Given the description of an element on the screen output the (x, y) to click on. 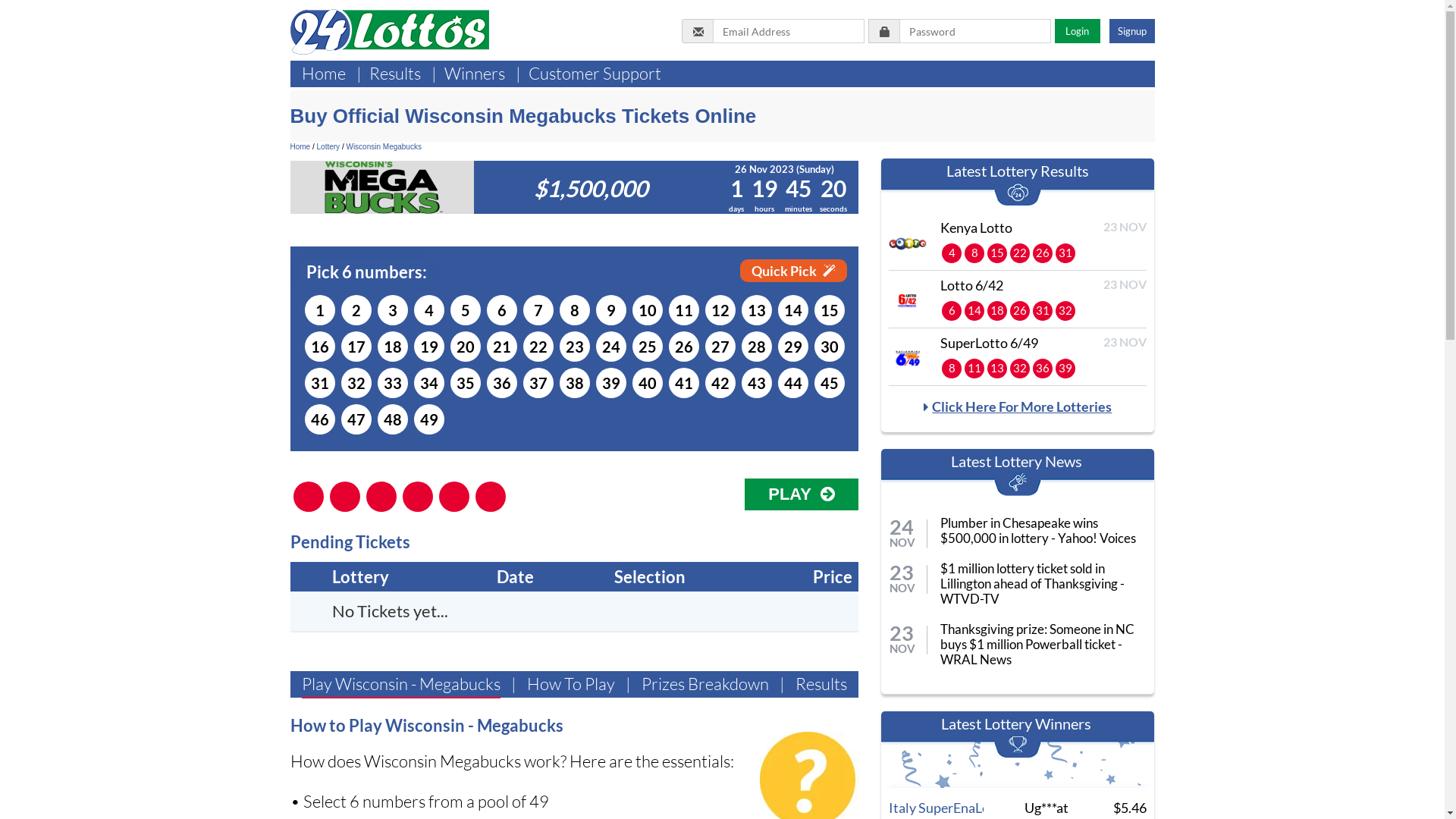
Prizes Breakdown Element type: text (704, 684)
Customer Support Element type: text (593, 74)
Italy SuperEnaLotto Element type: text (947, 807)
Click Here For More Lotteries Element type: text (1017, 406)
Quick Pick Element type: text (793, 270)
Wisconsin Megabucks Element type: text (382, 146)
Home Element type: text (299, 146)
Results Element type: text (394, 74)
How To Play Element type: text (570, 684)
Home Element type: text (323, 74)
Lottery Element type: text (328, 146)
Results Element type: text (820, 684)
PLAY   Element type: text (801, 494)
Play Wisconsin - Megabucks Element type: text (400, 685)
Winners Element type: text (474, 74)
